Given the description of an element on the screen output the (x, y) to click on. 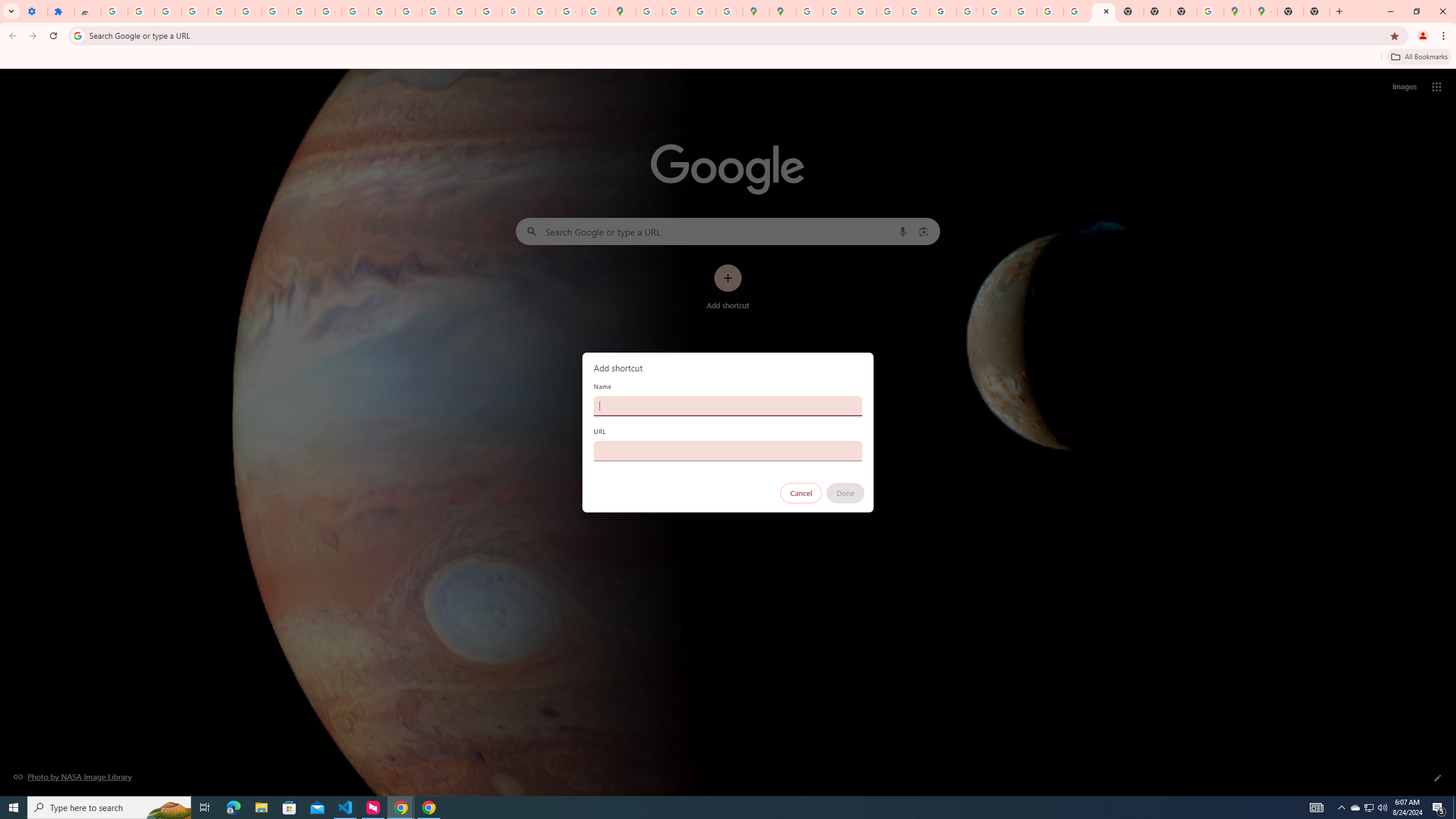
Cancel (801, 493)
Create your Google Account (702, 11)
New Tab (1290, 11)
Extensions (61, 11)
